Given the description of an element on the screen output the (x, y) to click on. 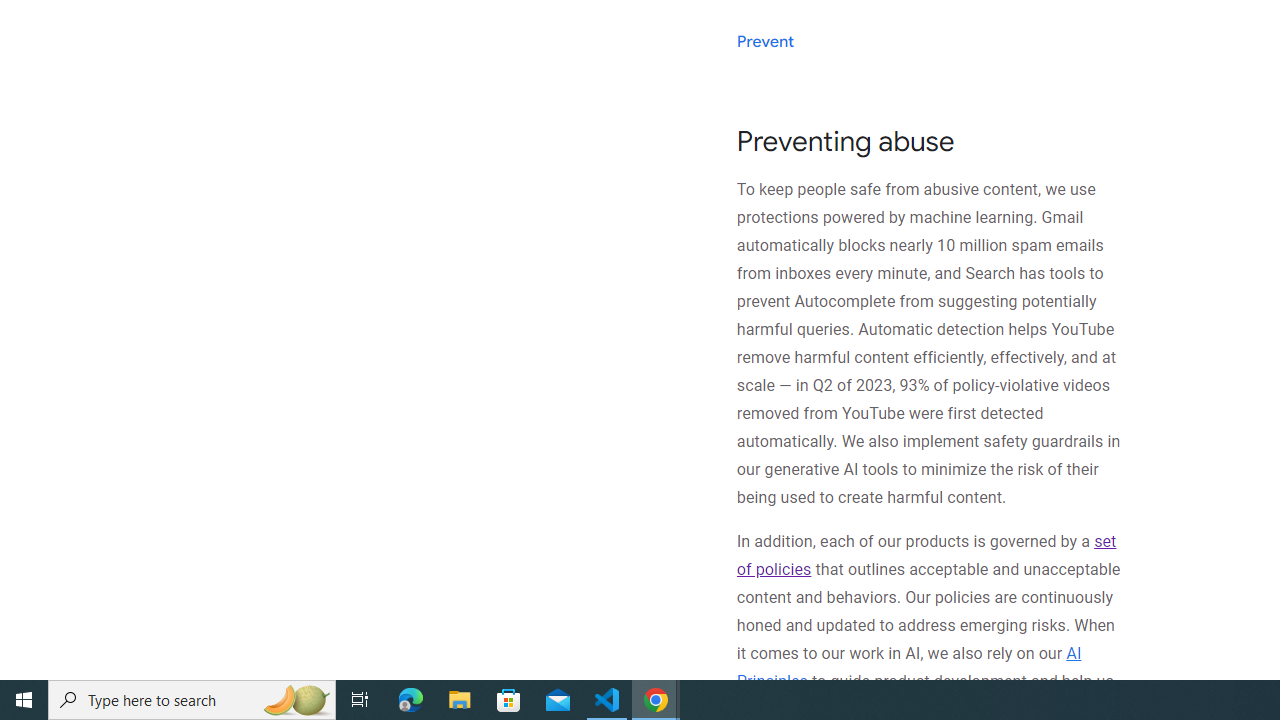
set of policies (926, 555)
AI Principles (908, 667)
